Given the description of an element on the screen output the (x, y) to click on. 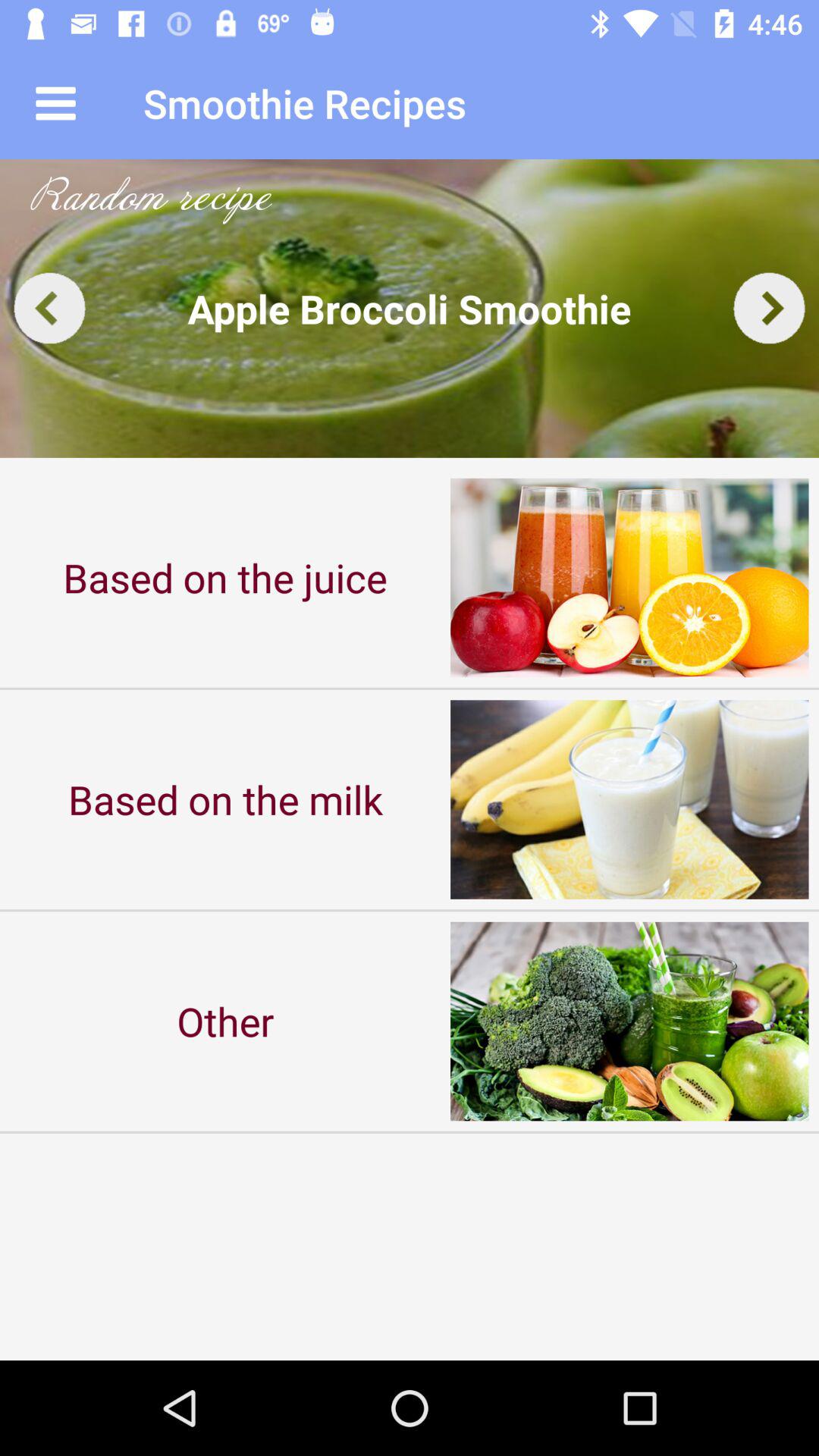
go to previous slide (49, 308)
